Given the description of an element on the screen output the (x, y) to click on. 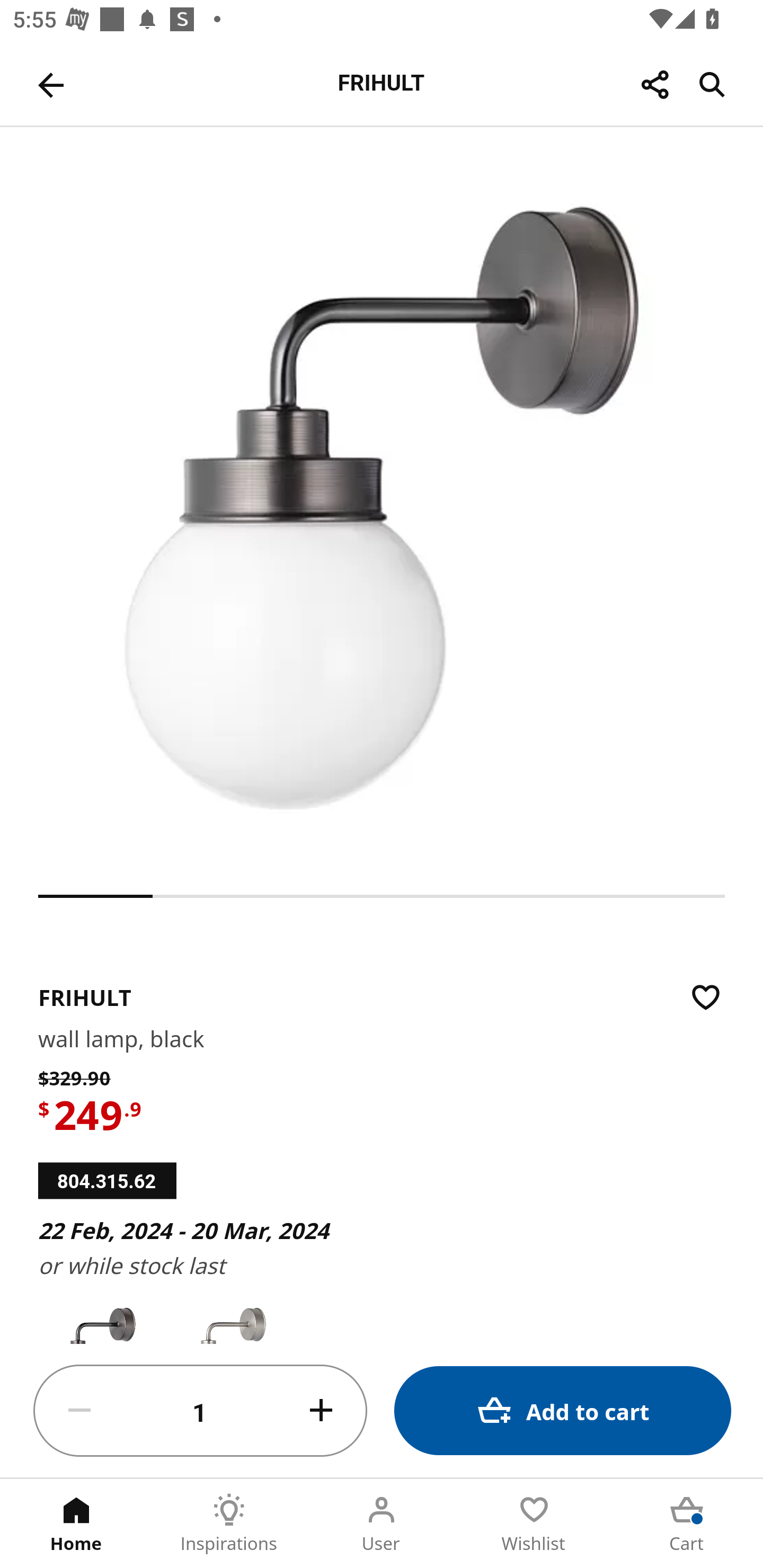
Add to cart (562, 1410)
1 (200, 1411)
Home
Tab 1 of 5 (76, 1522)
Inspirations
Tab 2 of 5 (228, 1522)
User
Tab 3 of 5 (381, 1522)
Wishlist
Tab 4 of 5 (533, 1522)
Cart
Tab 5 of 5 (686, 1522)
